Given the description of an element on the screen output the (x, y) to click on. 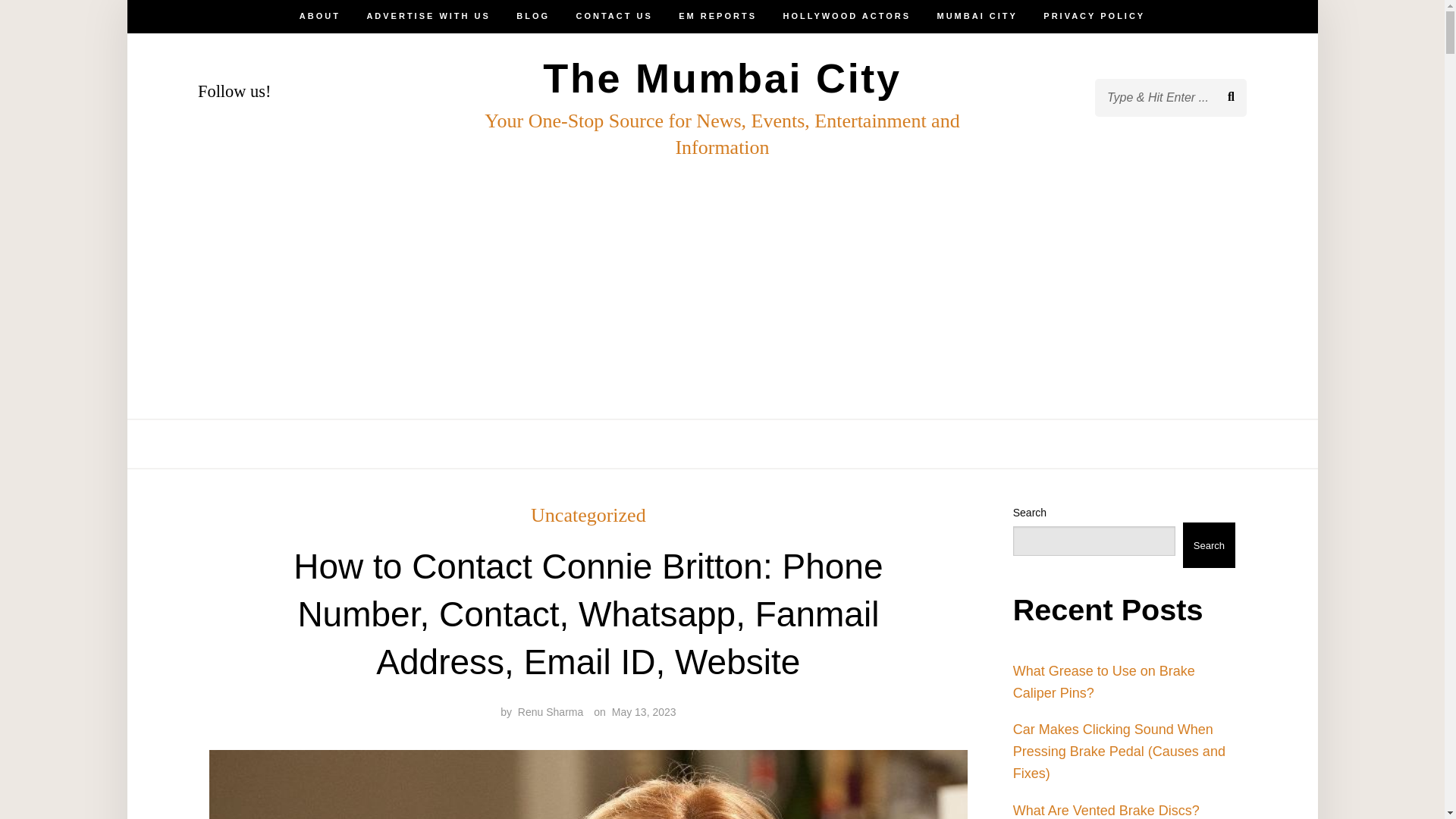
BLOG (533, 16)
ADVERTISE WITH US (427, 444)
EM REPORTS (717, 16)
BLOG (533, 444)
CONTACT US (614, 16)
MUMBAI CITY (977, 16)
EM REPORTS (717, 444)
HOLLYWOOD ACTORS (847, 16)
PRIVACY POLICY (1093, 16)
The Mumbai City (722, 77)
CONTACT US (614, 444)
MUMBAI CITY (977, 444)
May 13, 2023 (644, 711)
Submit (64, 23)
